Given the description of an element on the screen output the (x, y) to click on. 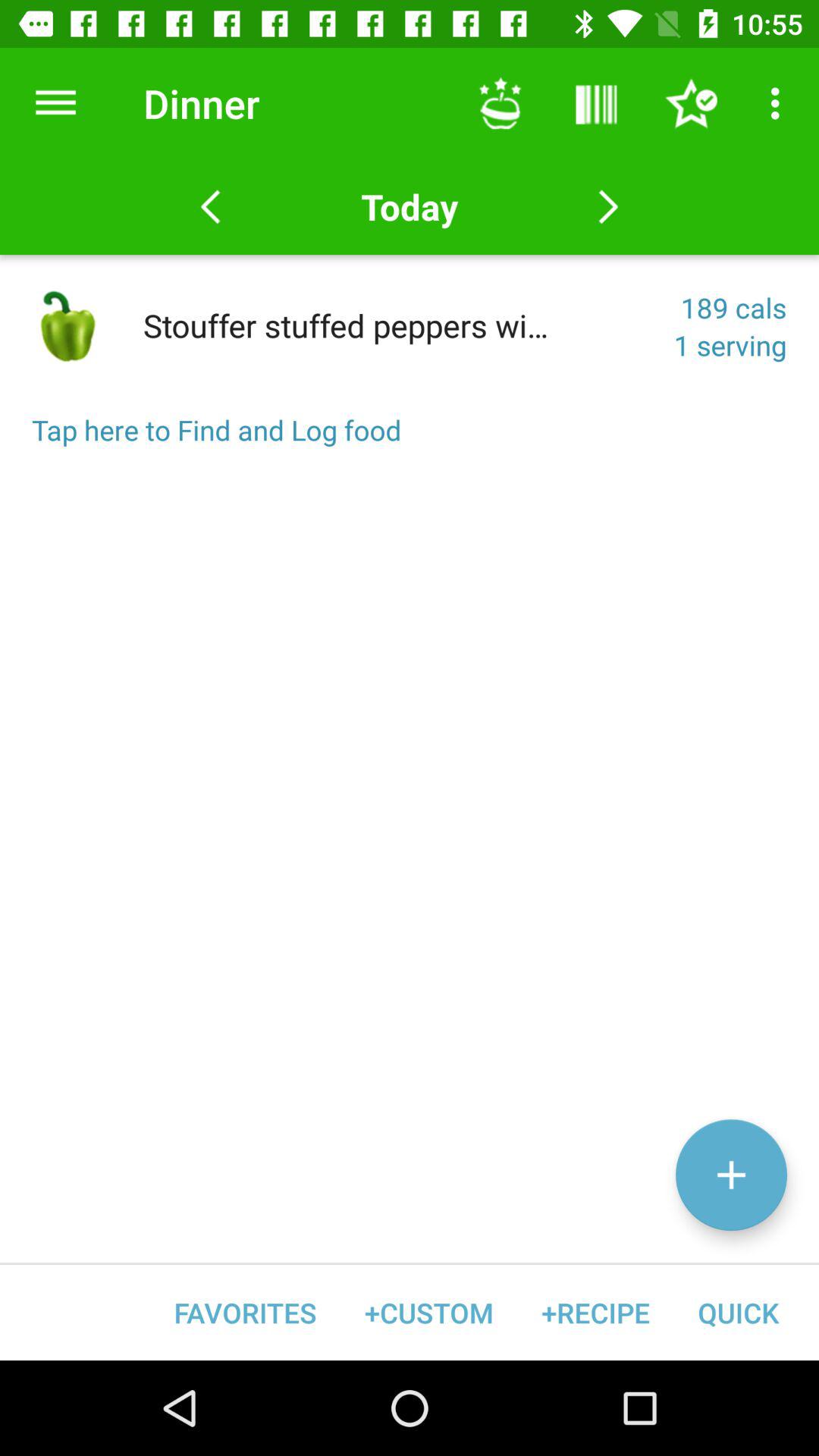
open icon to the left of the +recipe icon (428, 1312)
